Given the description of an element on the screen output the (x, y) to click on. 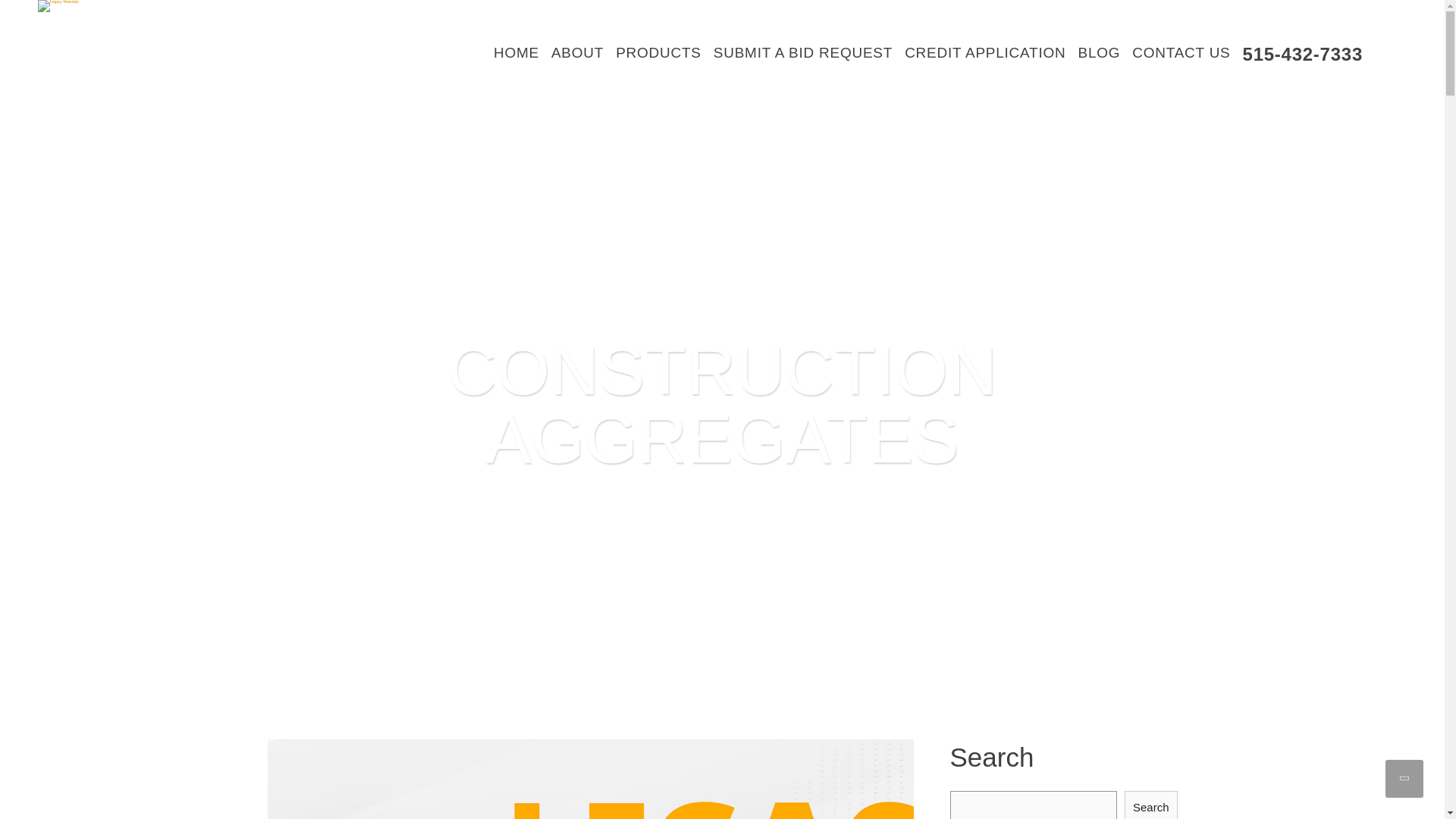
SUBMIT A BID REQUEST (802, 52)
CONTACT US (1180, 52)
CREDIT APPLICATION (984, 52)
PRODUCTS (658, 52)
515-432-7333 (1302, 54)
Legacy Materials (57, 6)
